Given the description of an element on the screen output the (x, y) to click on. 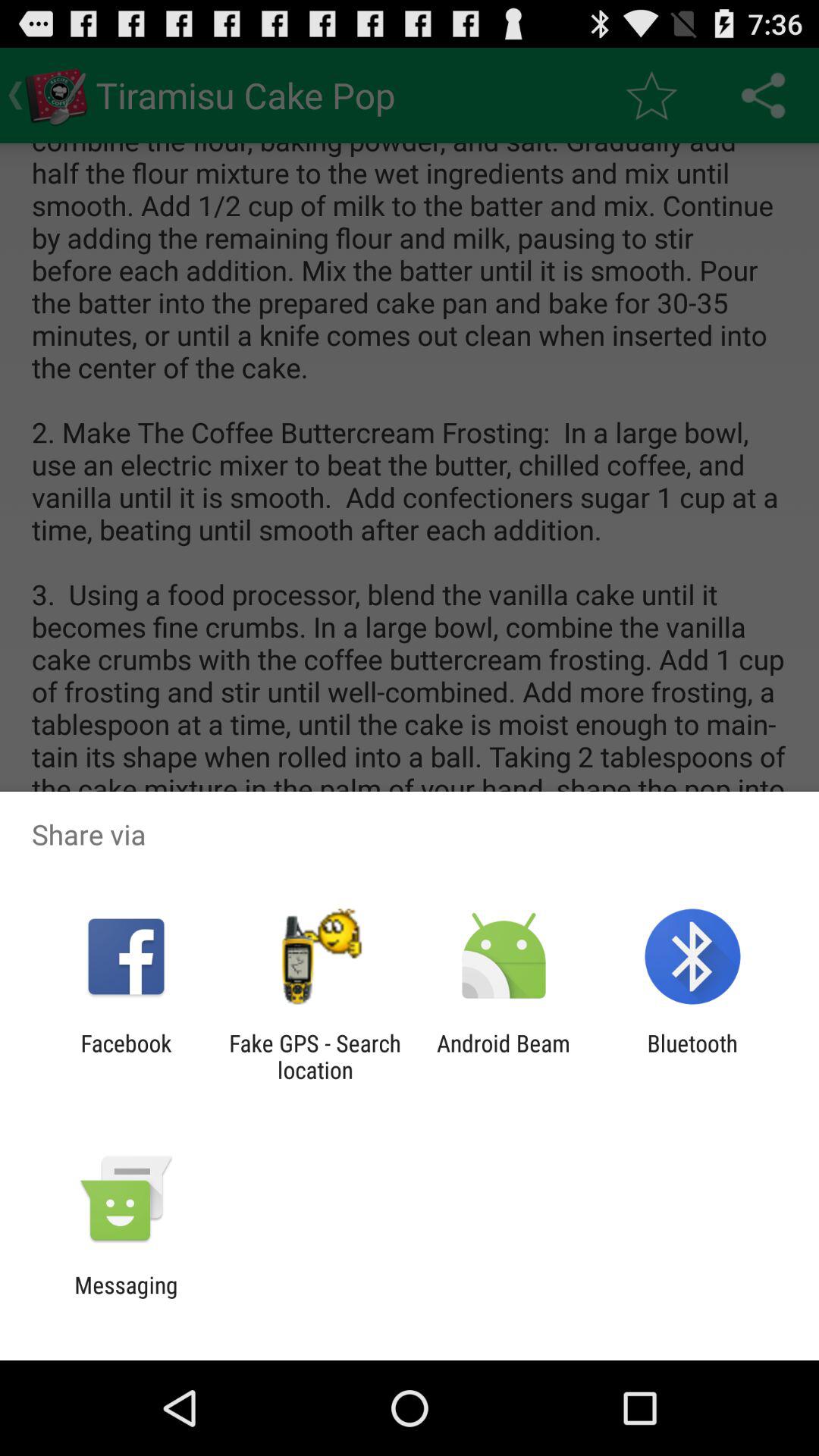
jump to facebook icon (125, 1056)
